Given the description of an element on the screen output the (x, y) to click on. 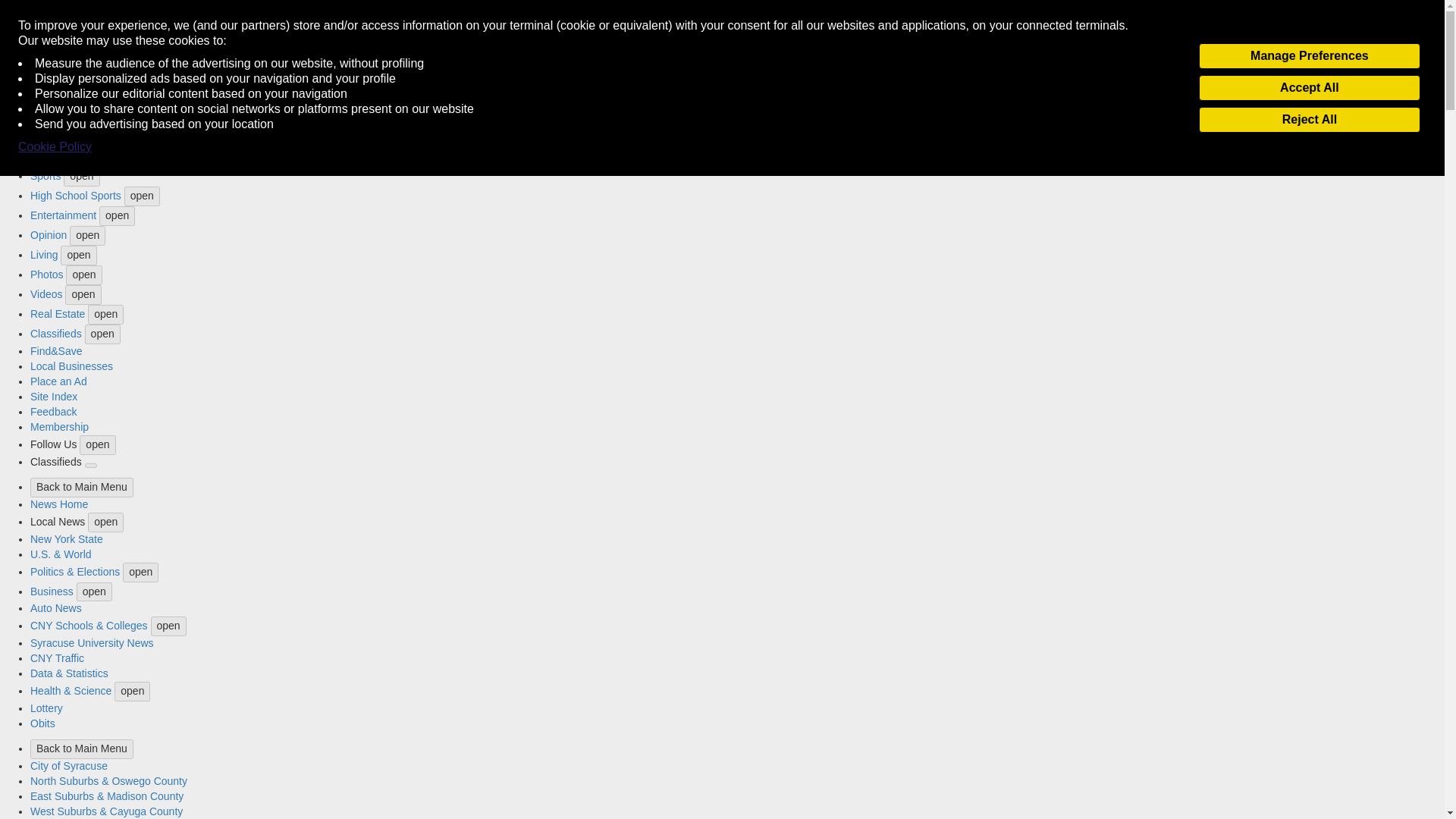
Sports (45, 175)
Menu (19, 25)
open (86, 235)
Opinion (48, 234)
Reject All (1309, 119)
open (83, 275)
open (77, 82)
Living (44, 254)
open (99, 157)
News (43, 81)
open (78, 255)
Home (44, 41)
Obituaries (54, 155)
open (91, 102)
syracuse.com (34, 6)
